Given the description of an element on the screen output the (x, y) to click on. 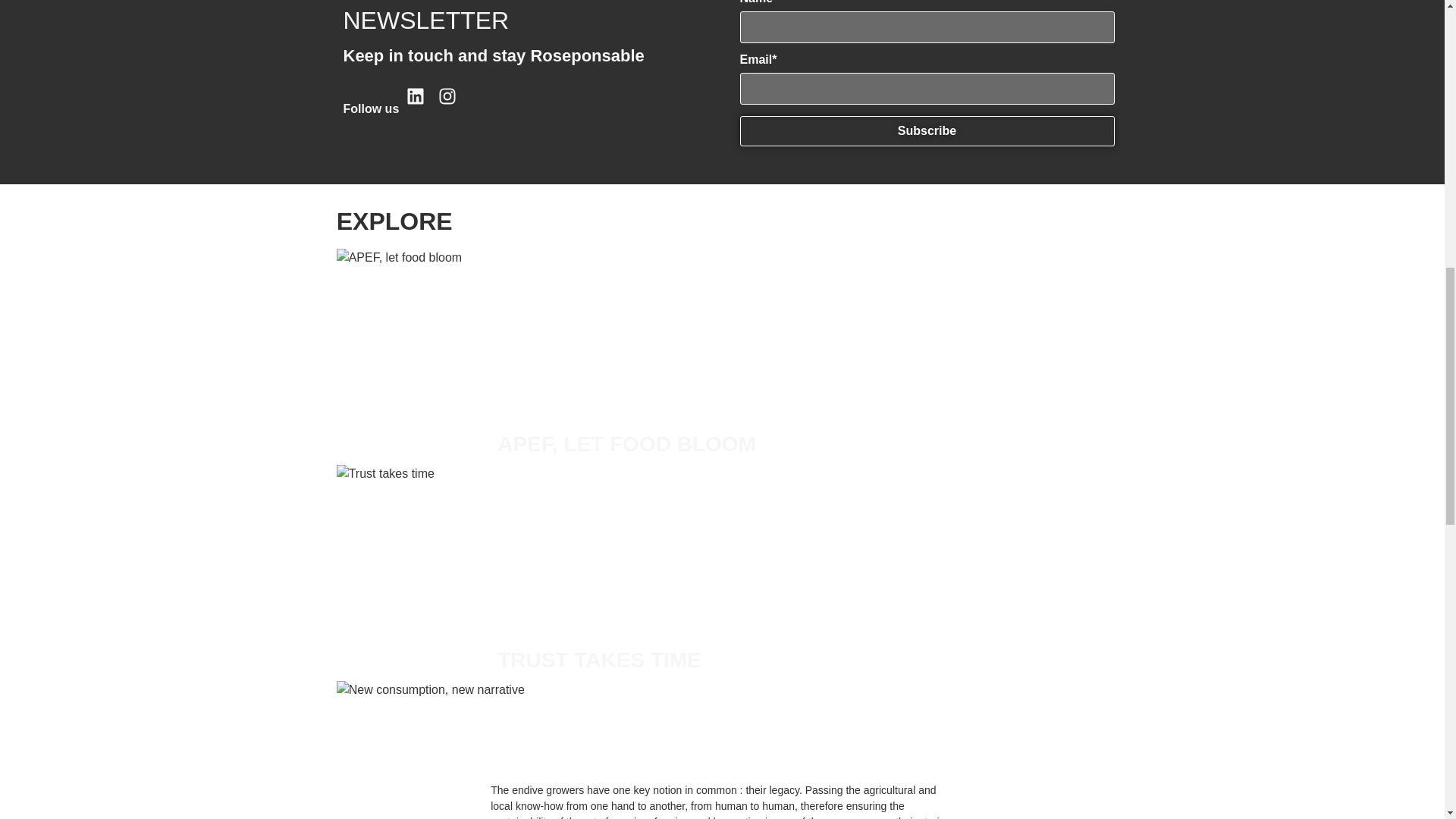
APEF, LET FOOD BLOOM (626, 443)
APEF, let food bloom (626, 443)
TRUST TAKES TIME (599, 659)
Trust takes time (599, 659)
Subscribe (927, 131)
Subscribe (927, 131)
